Given the description of an element on the screen output the (x, y) to click on. 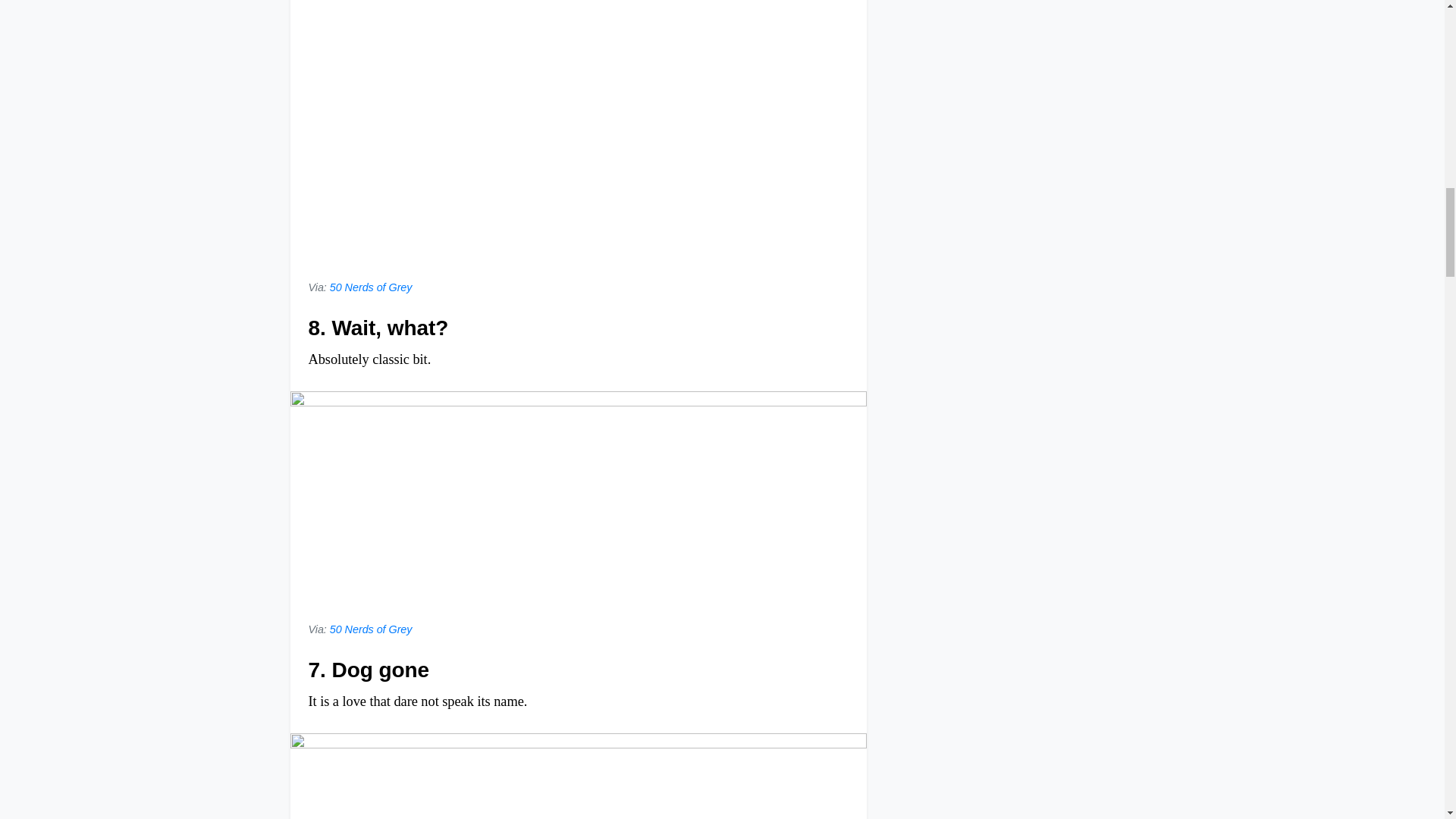
50 Nerds of Grey (371, 287)
50 Nerds of Grey (371, 629)
